Given the description of an element on the screen output the (x, y) to click on. 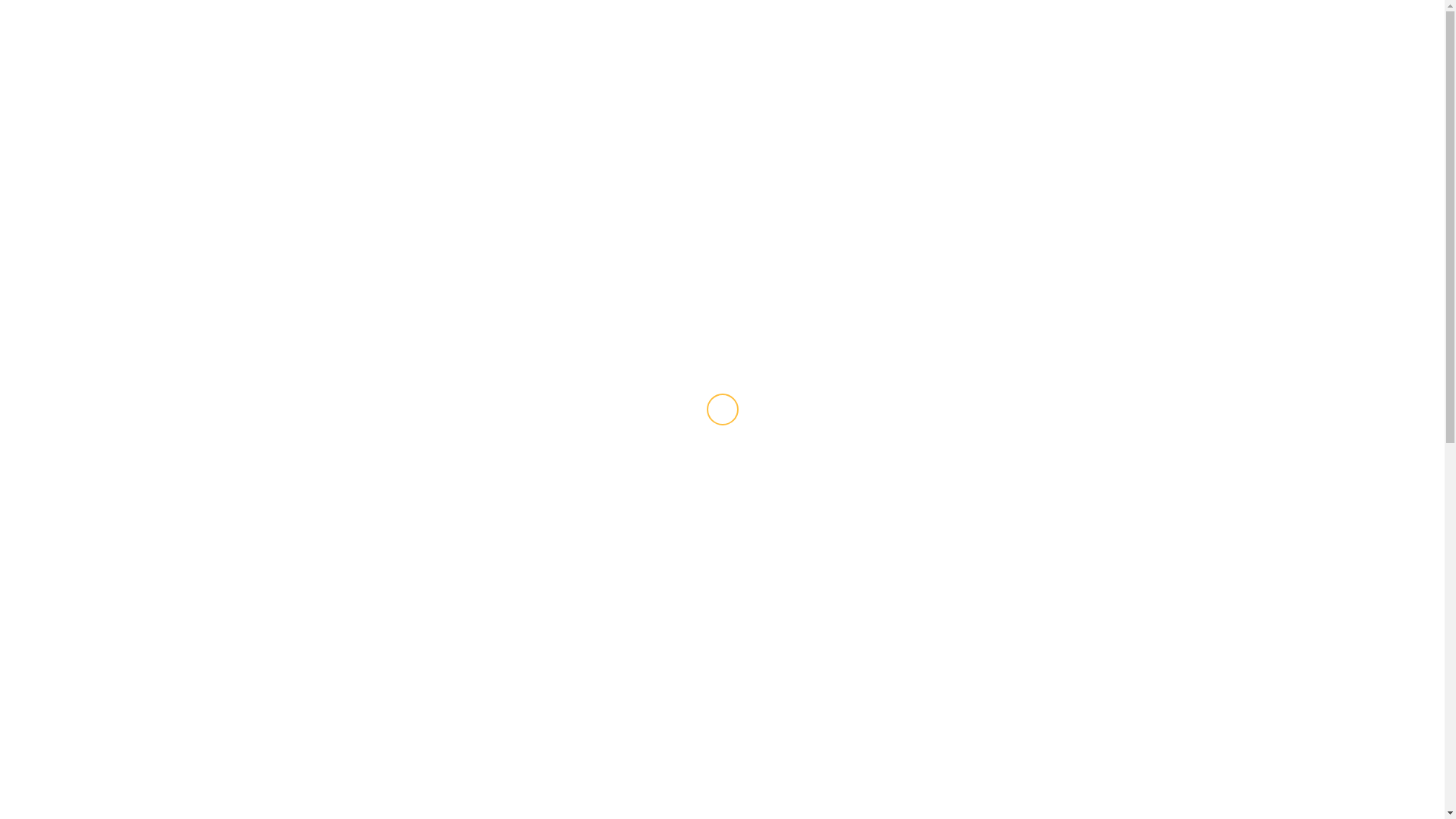
BLOG Element type: text (340, 122)
Search Element type: hover (1192, 122)
Tuinspullen Element type: text (760, 572)
Blog Element type: text (288, 163)
HOME Element type: text (288, 122)
Een aanwinst voor je tuin Element type: text (837, 344)
LINKPARTNER Element type: text (413, 122)
CONTACT Element type: text (498, 122)
Home Element type: text (253, 163)
CDF INFO Element type: text (314, 42)
wonen Element type: text (749, 317)
Accepteren Element type: text (771, 797)
tuin Element type: text (318, 163)
Zoeken Element type: text (1163, 168)
Cookie instellingen Element type: text (686, 796)
